Given the description of an element on the screen output the (x, y) to click on. 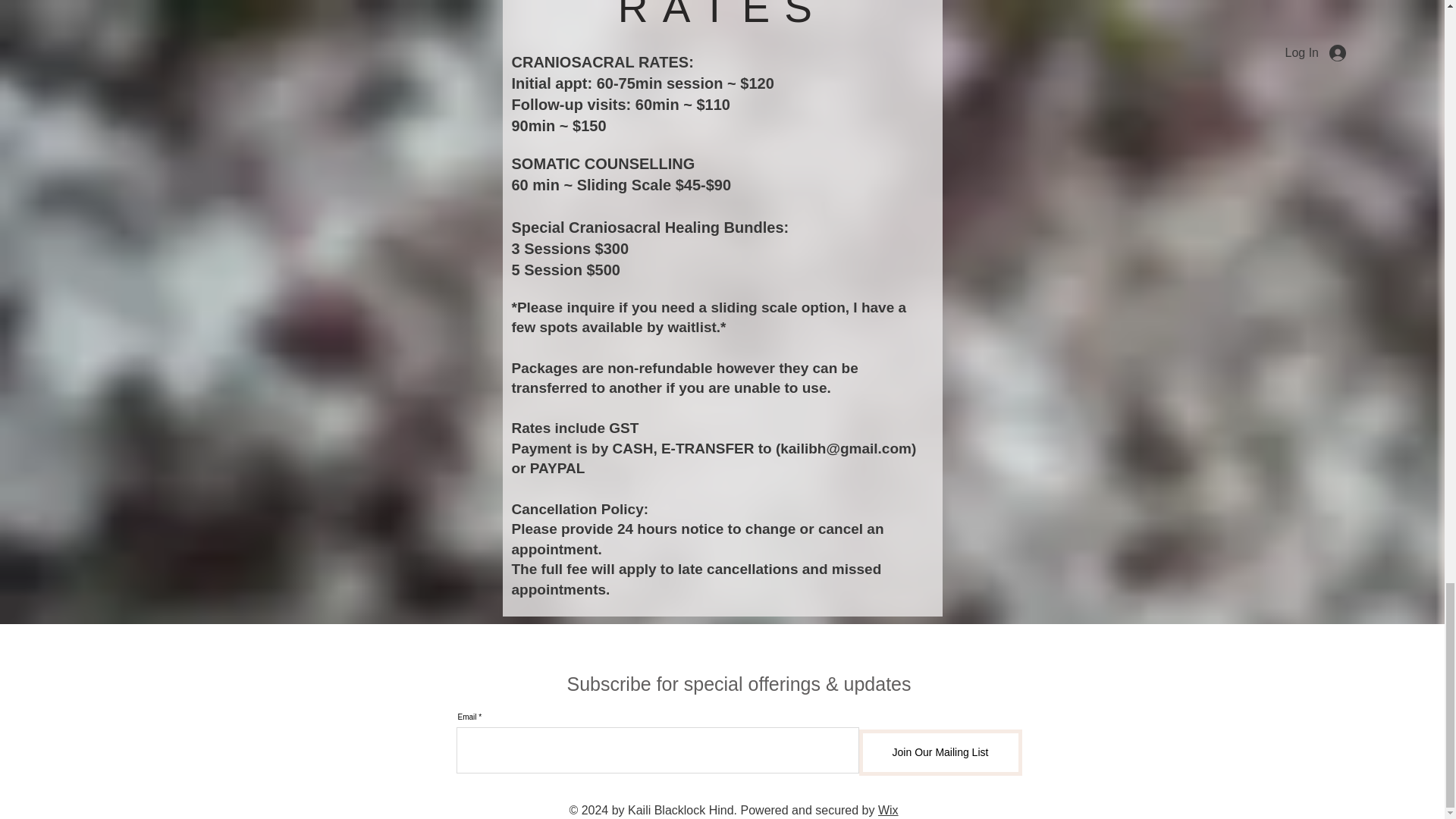
Join Our Mailing List (940, 752)
Wix (887, 809)
